Given the description of an element on the screen output the (x, y) to click on. 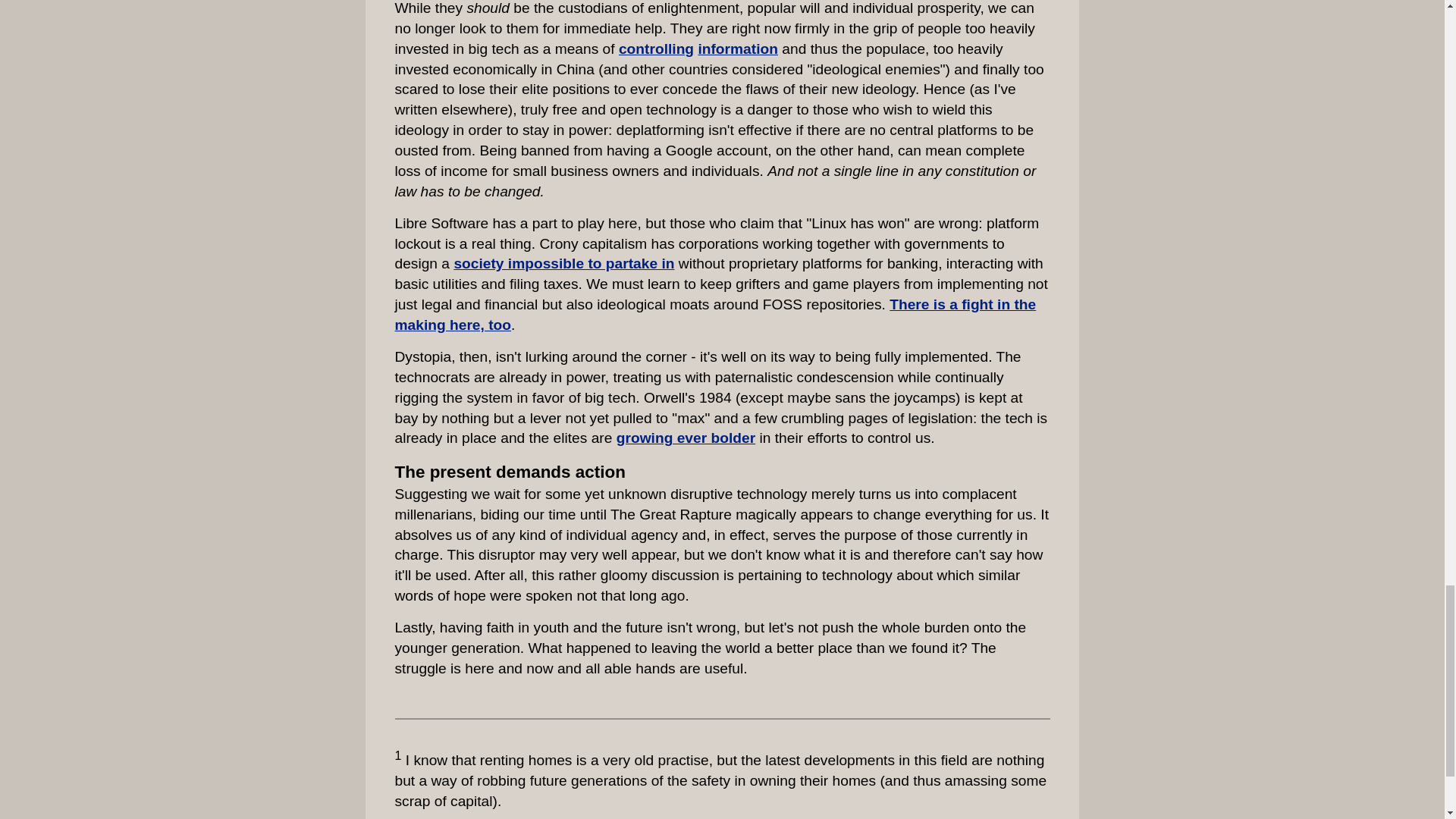
There is a fight in the making here, too (714, 314)
controlling (656, 48)
society impossible to partake in (563, 263)
growing ever bolder (685, 437)
information (737, 48)
